Given the description of an element on the screen output the (x, y) to click on. 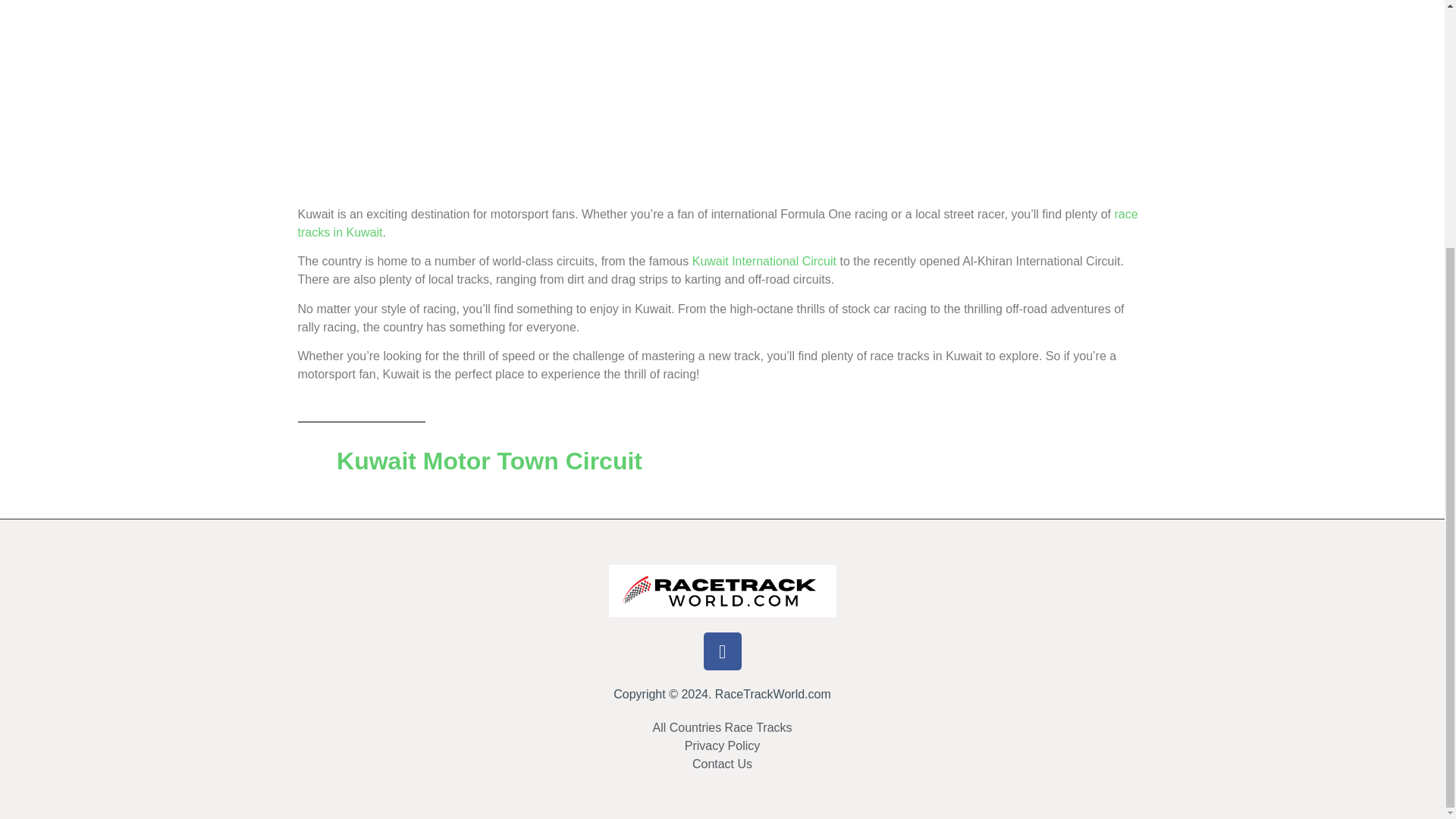
All Countries Race Tracks (722, 728)
race tracks in Kuwait (717, 223)
Contact Us (722, 764)
Kuwait International Circuit (764, 260)
Privacy Policy (722, 746)
Kuwait Motor Town Circuit (469, 461)
